Given the description of an element on the screen output the (x, y) to click on. 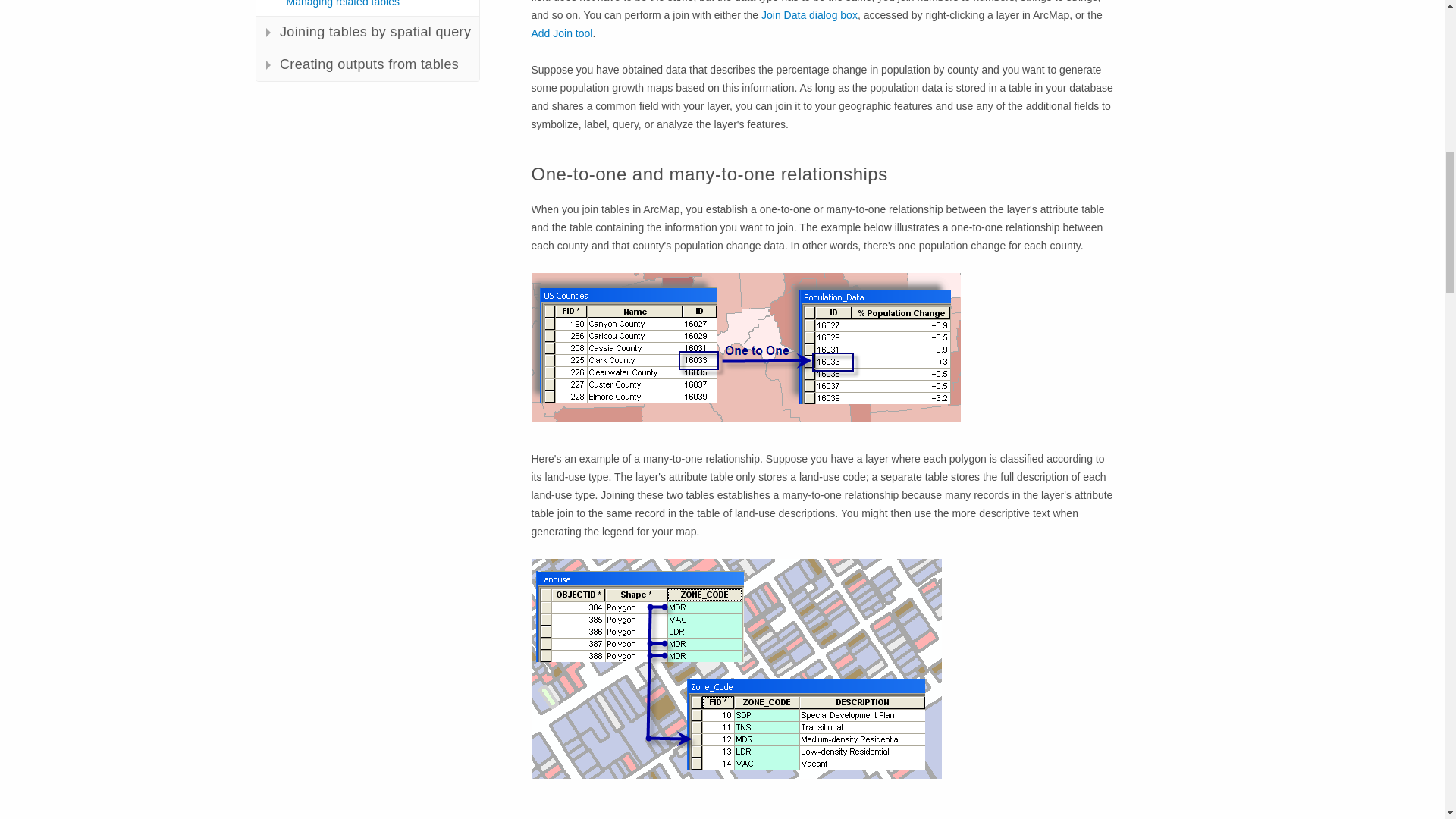
Example of a many-to-one relationship (735, 668)
Symbolizing features based on joined population data (745, 346)
